Given the description of an element on the screen output the (x, y) to click on. 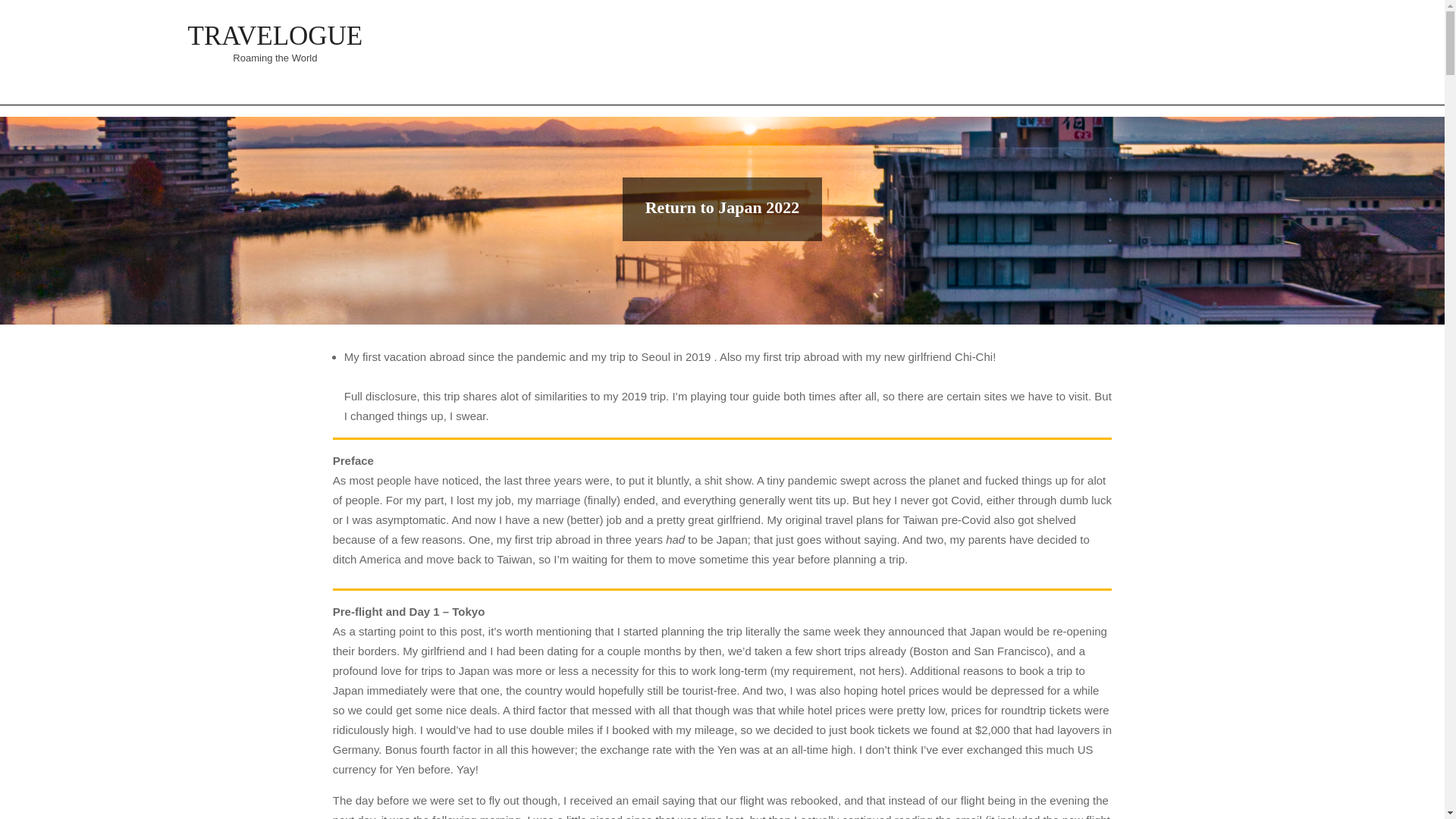
TRAVELOGUE (274, 35)
